Given the description of an element on the screen output the (x, y) to click on. 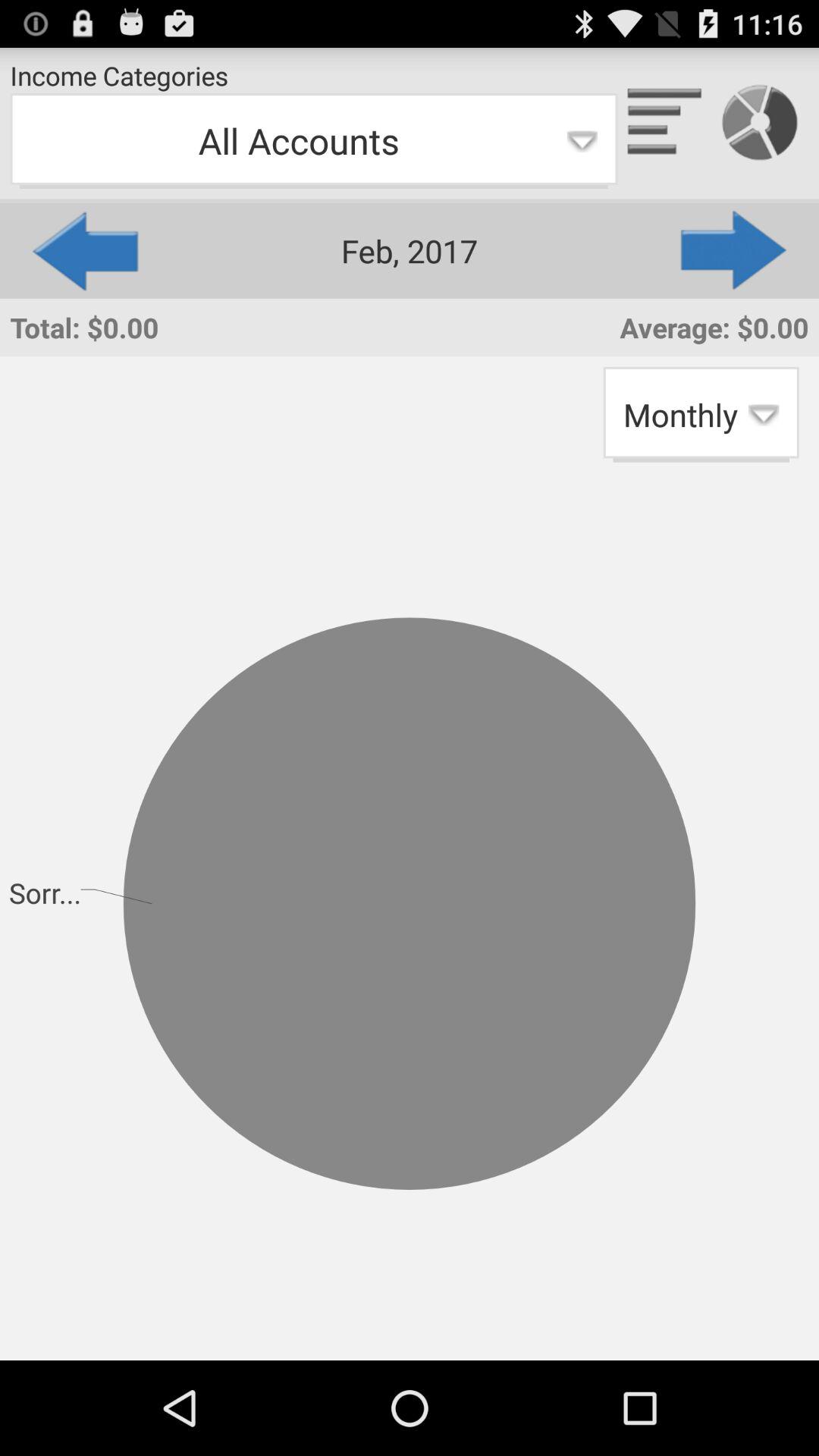
tap item below average: $0.00 item (701, 414)
